Given the description of an element on the screen output the (x, y) to click on. 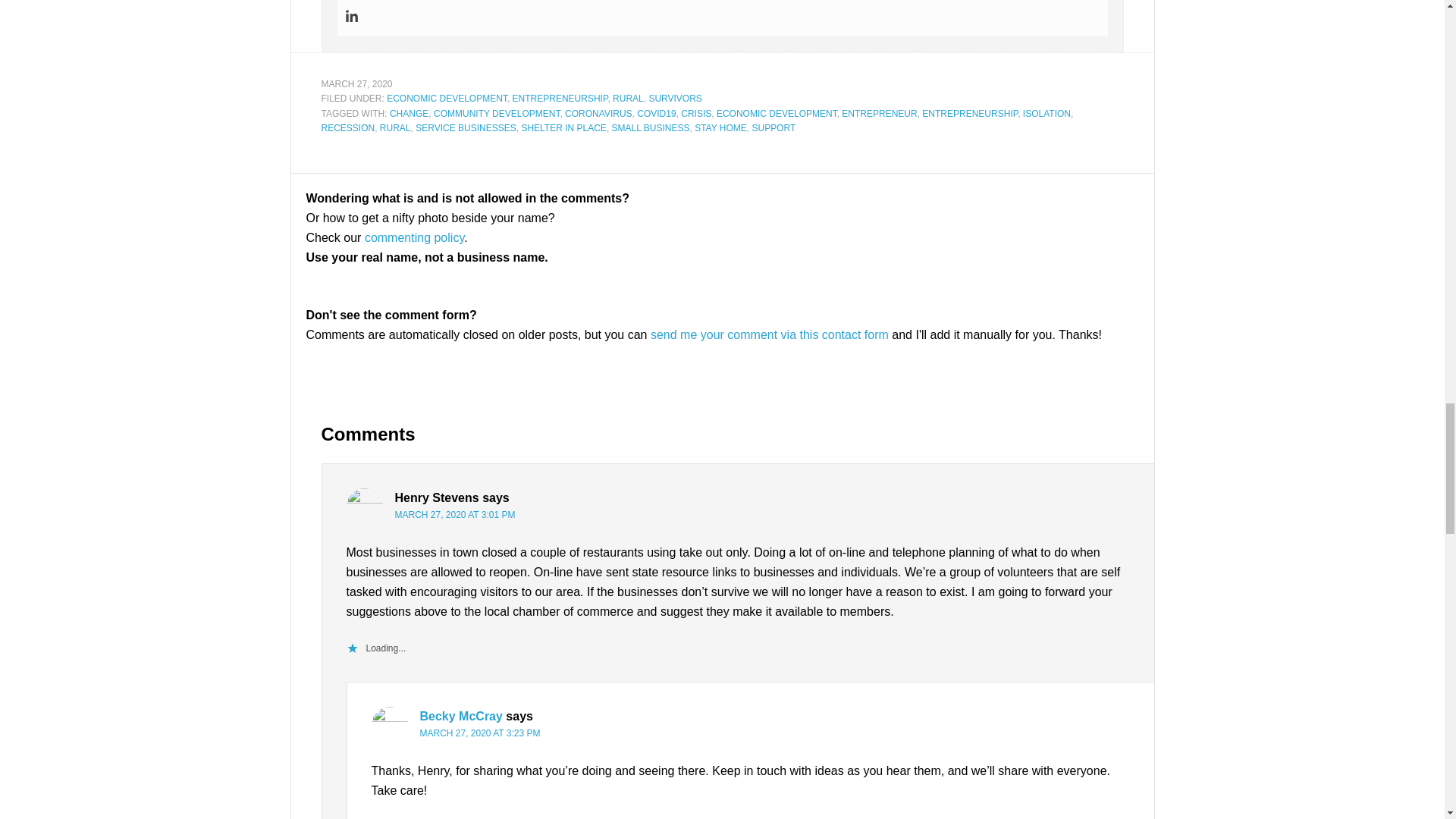
RURAL (627, 98)
SHELTER IN PLACE (563, 127)
ECONOMIC DEVELOPMENT (776, 113)
ENTREPRENEUR (879, 113)
RECESSION (348, 127)
SERVICE BUSINESSES (465, 127)
COVID19 (656, 113)
ENTREPRENEURSHIP (560, 98)
ENTREPRENEURSHIP (969, 113)
COMMUNITY DEVELOPMENT (496, 113)
ECONOMIC DEVELOPMENT (446, 98)
ISOLATION (1046, 113)
RURAL (395, 127)
CORONAVIRUS (597, 113)
CHANGE (409, 113)
